Given the description of an element on the screen output the (x, y) to click on. 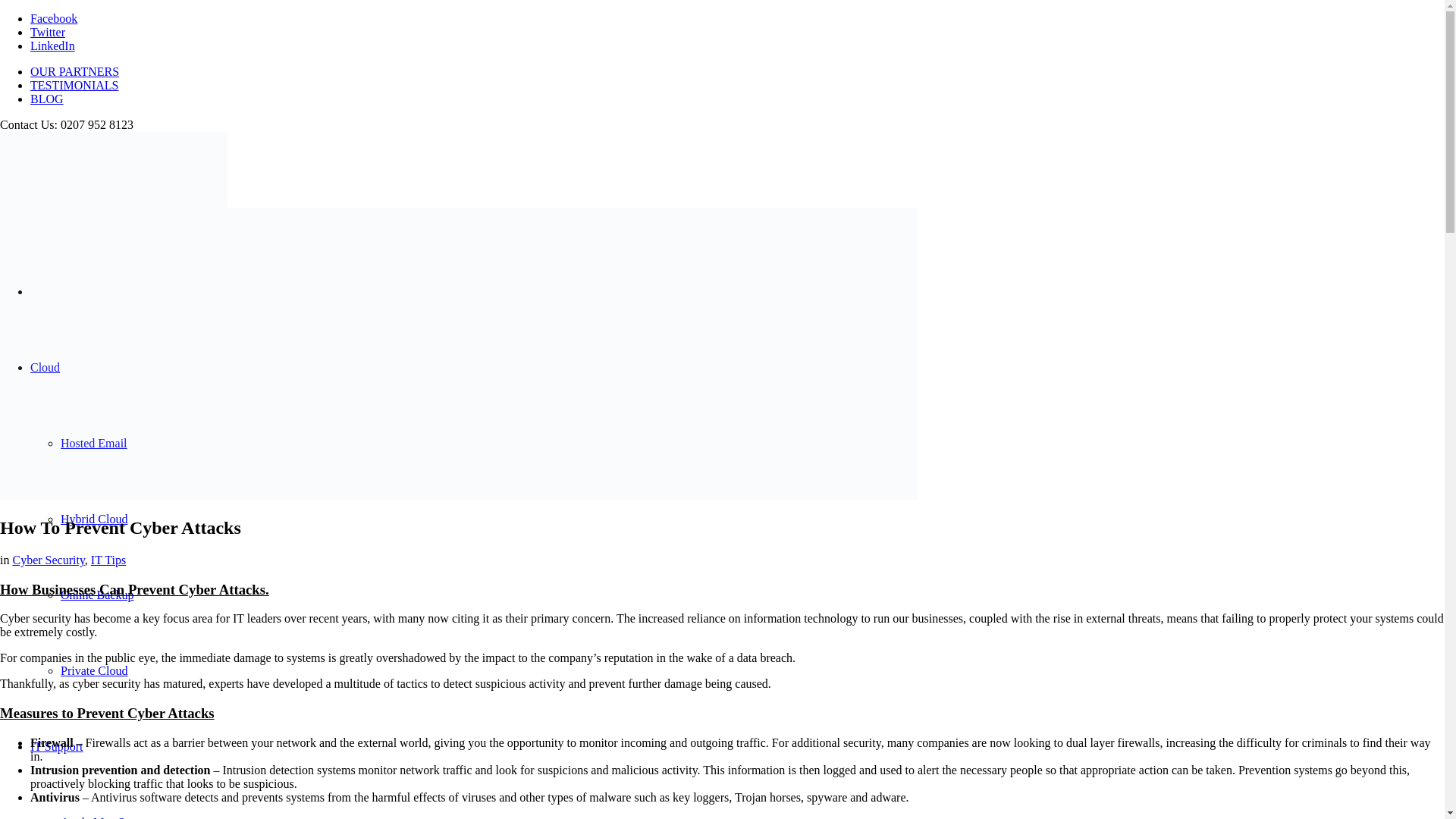
Facebook (53, 18)
LinkedIn (52, 45)
IT Tips (107, 559)
Twitter (47, 31)
Online Backup (97, 594)
Twitter (47, 31)
Hosted Email (94, 442)
LinkedIn (52, 45)
Cyber Security (47, 559)
Apple Mac Support (108, 817)
Cyber-Security---How-To-Prevent-Cyber-Attacks (458, 495)
TESTIMONIALS (73, 84)
Private Cloud (94, 670)
BLOG (47, 98)
IT Support (56, 746)
